Given the description of an element on the screen output the (x, y) to click on. 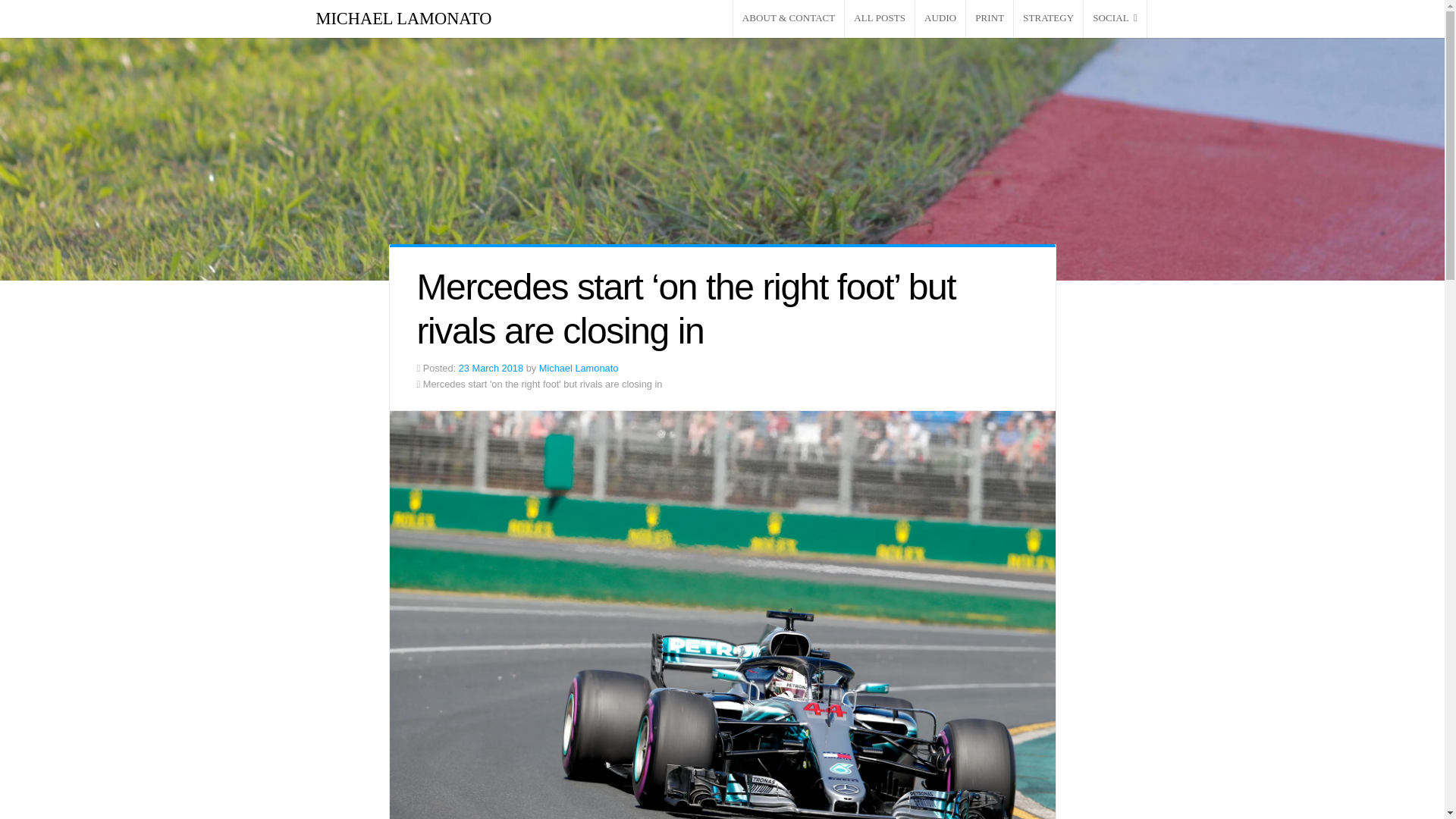
ALL POSTS (879, 18)
AUDIO (940, 18)
View all posts by Michael Lamonato (578, 367)
20:00 (490, 367)
SOCIAL (1114, 18)
PRINT (989, 18)
Michael Lamonato (578, 367)
STRATEGY (1048, 18)
MICHAEL LAMONATO (403, 18)
23 March 2018 (490, 367)
